Given the description of an element on the screen output the (x, y) to click on. 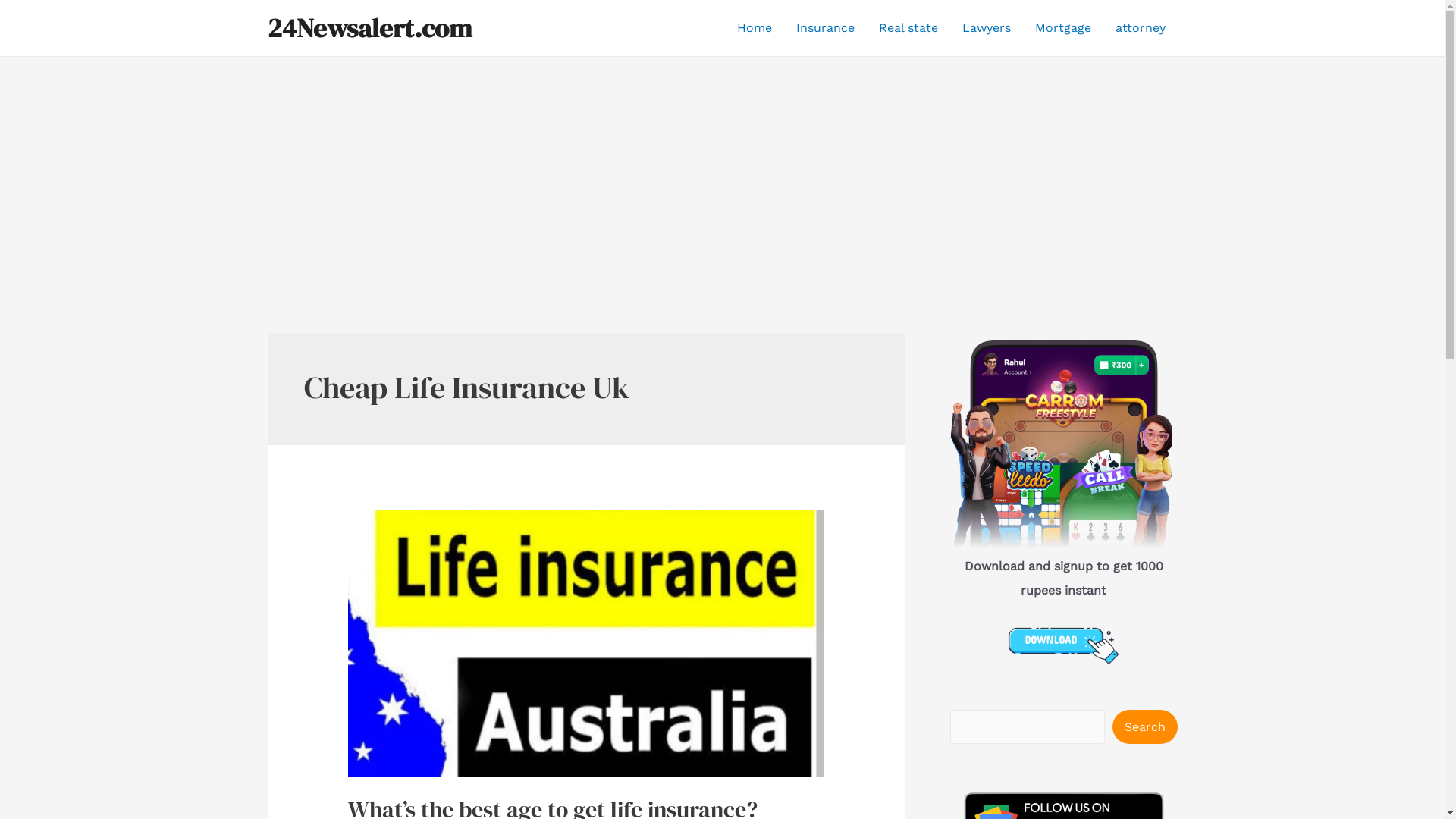
Lawyers Element type: text (985, 27)
Search Element type: text (1143, 726)
Insurance Element type: text (825, 27)
Real state Element type: text (907, 27)
Advertisement Element type: hover (721, 170)
attorney Element type: text (1139, 27)
24Newsalert.com Element type: text (368, 27)
Home Element type: text (754, 27)
Mortgage Element type: text (1062, 27)
